Given the description of an element on the screen output the (x, y) to click on. 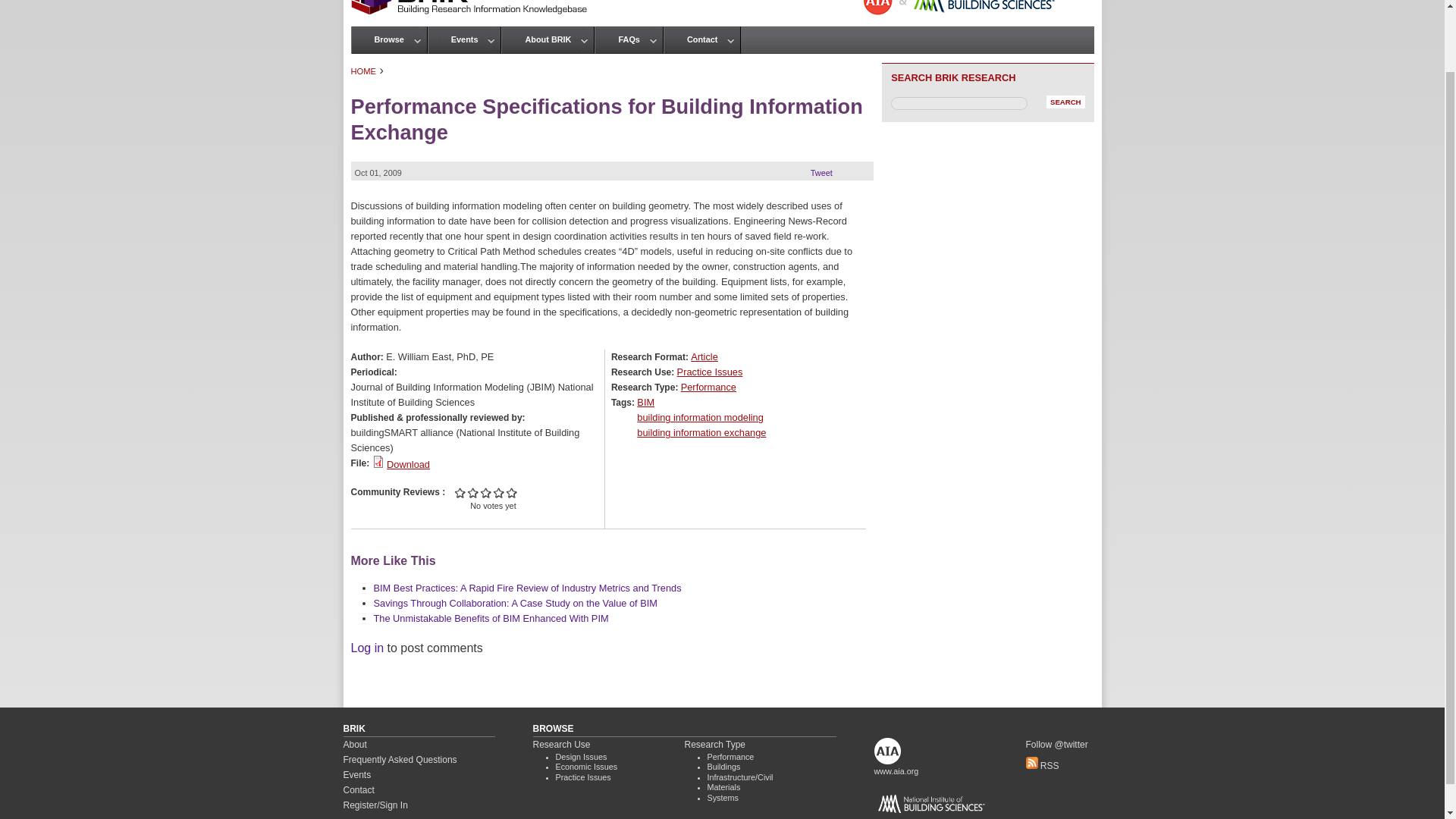
Tweet (821, 172)
Download (408, 464)
Systems (722, 797)
www.aia.org (895, 770)
Frequently Asked Questions (399, 759)
Practice Issues (709, 371)
Design Issues (580, 756)
Economic Issues (585, 766)
Browse (389, 39)
BIM (645, 401)
Search (1065, 101)
building information modeling (699, 417)
Materials (722, 786)
